Given the description of an element on the screen output the (x, y) to click on. 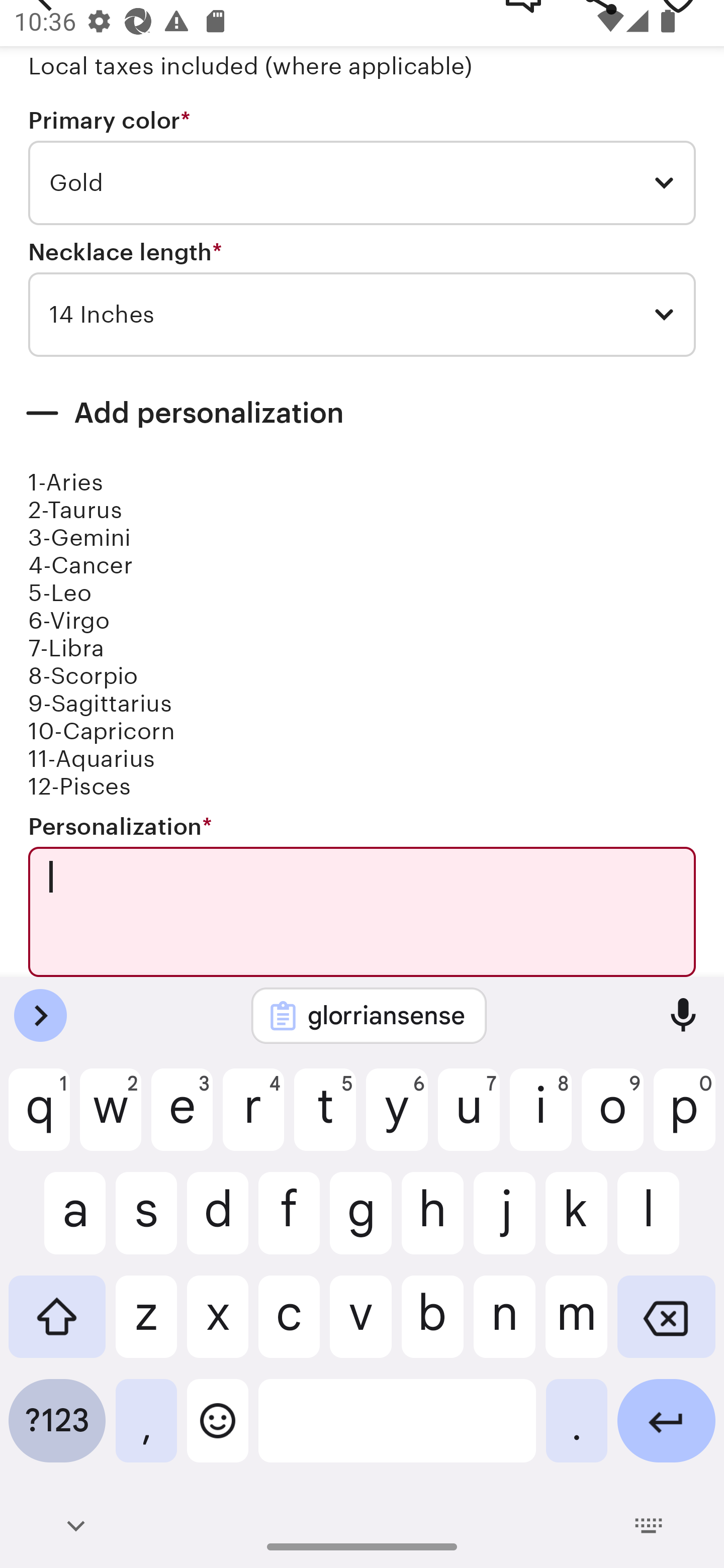
Primary color * Required Gold (361, 166)
Gold (361, 183)
Necklace length * Required 14 Inches (361, 298)
14 Inches (361, 314)
Add personalization Add personalization Required (362, 412)
